Given the description of an element on the screen output the (x, y) to click on. 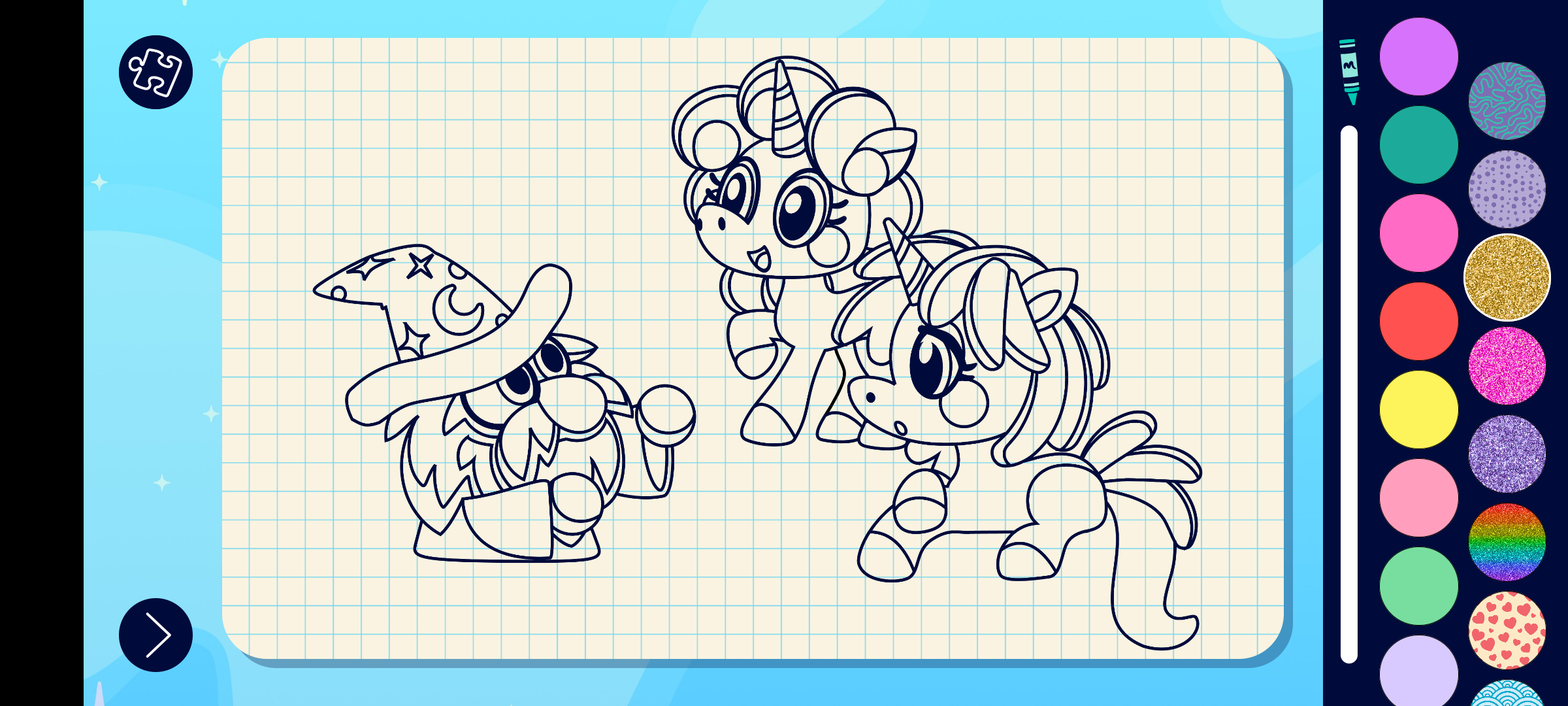
coloring background (1507, 101)
coloring background (1507, 189)
coloring background (1506, 277)
coloring background (1507, 365)
coloring background (1507, 454)
coloring background (1507, 542)
coloring background (1507, 630)
